Given the description of an element on the screen output the (x, y) to click on. 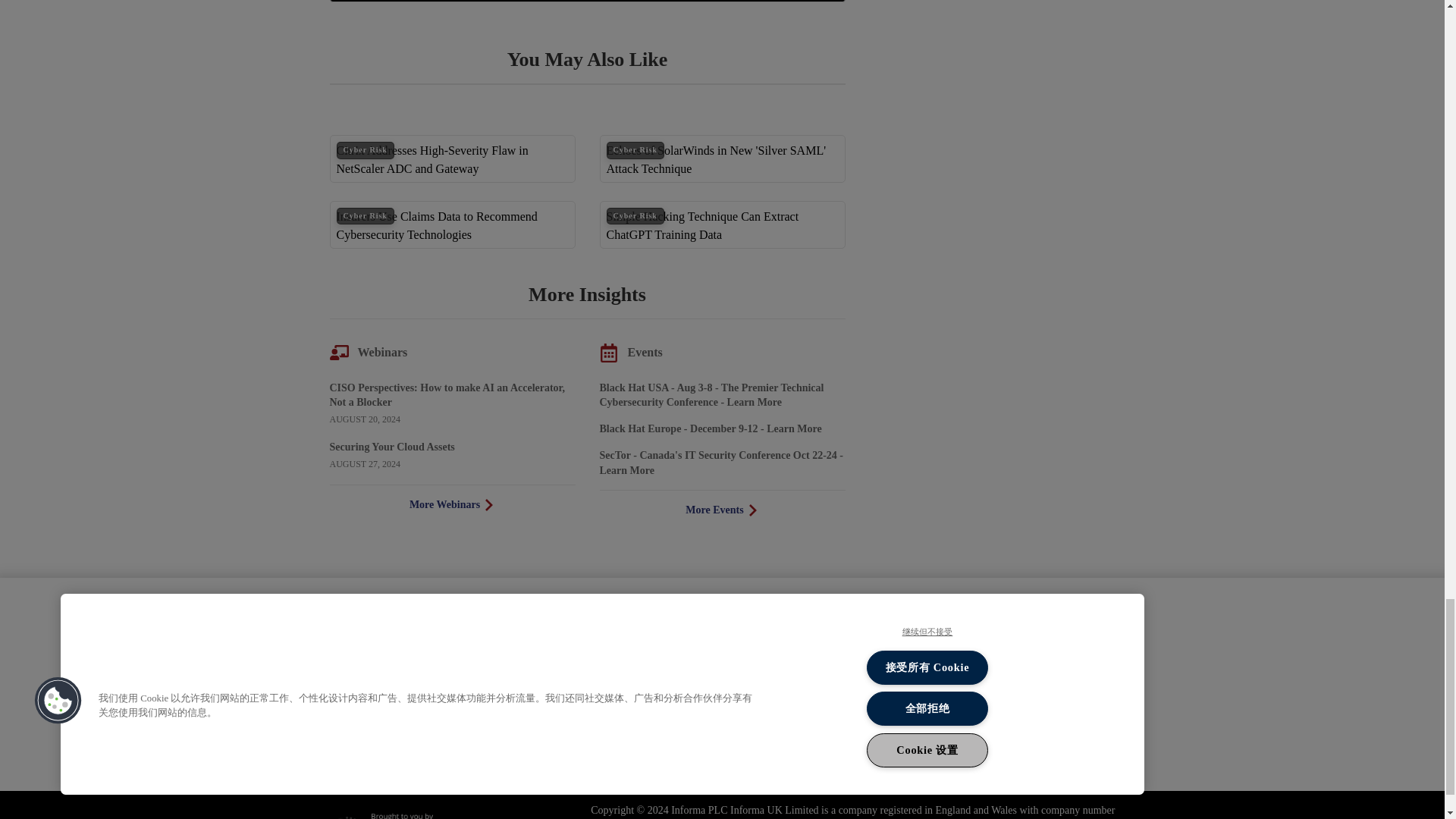
Logo (410, 618)
Informa Tech (404, 815)
